Given the description of an element on the screen output the (x, y) to click on. 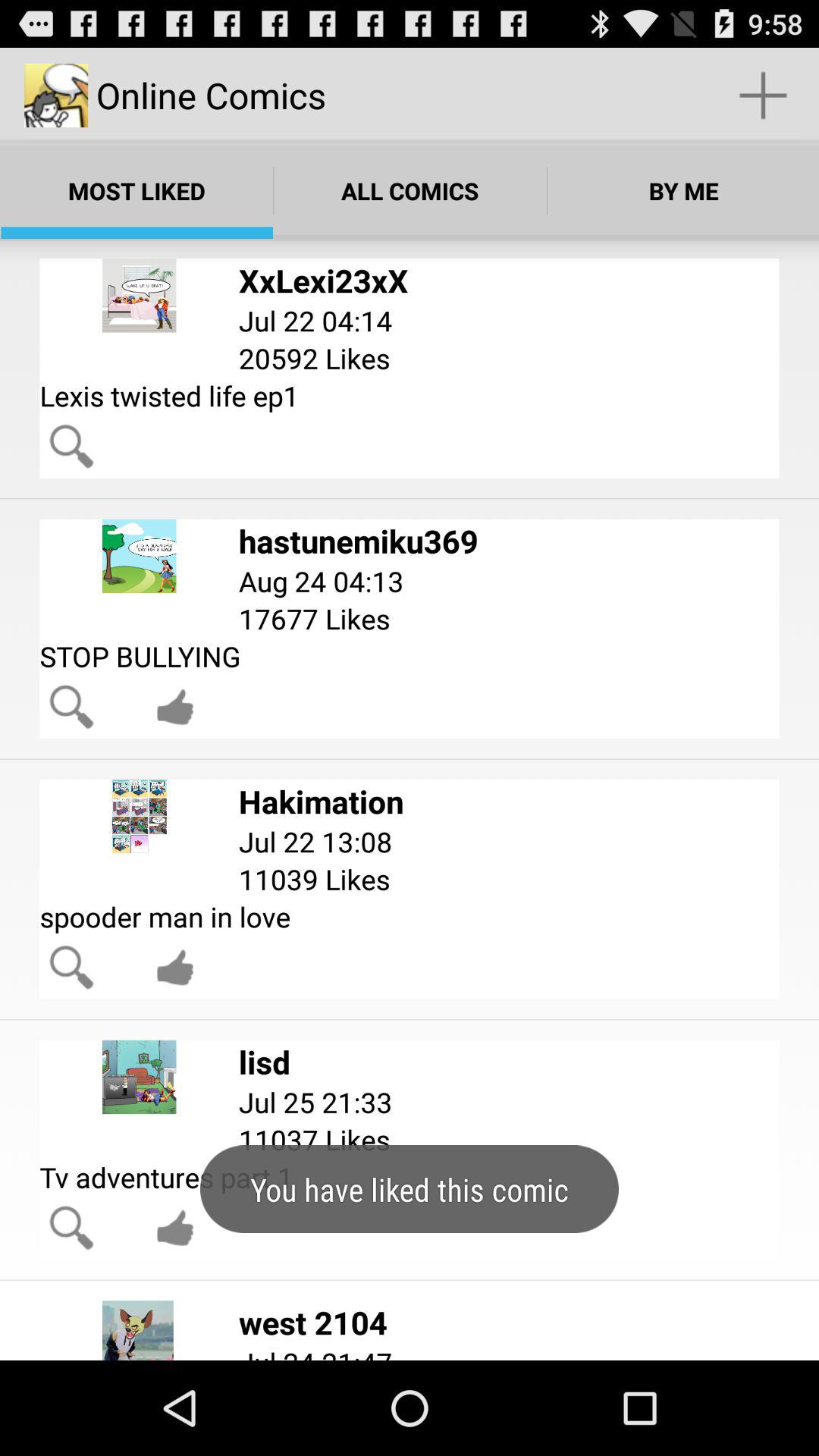
like the comic (175, 1227)
